Given the description of an element on the screen output the (x, y) to click on. 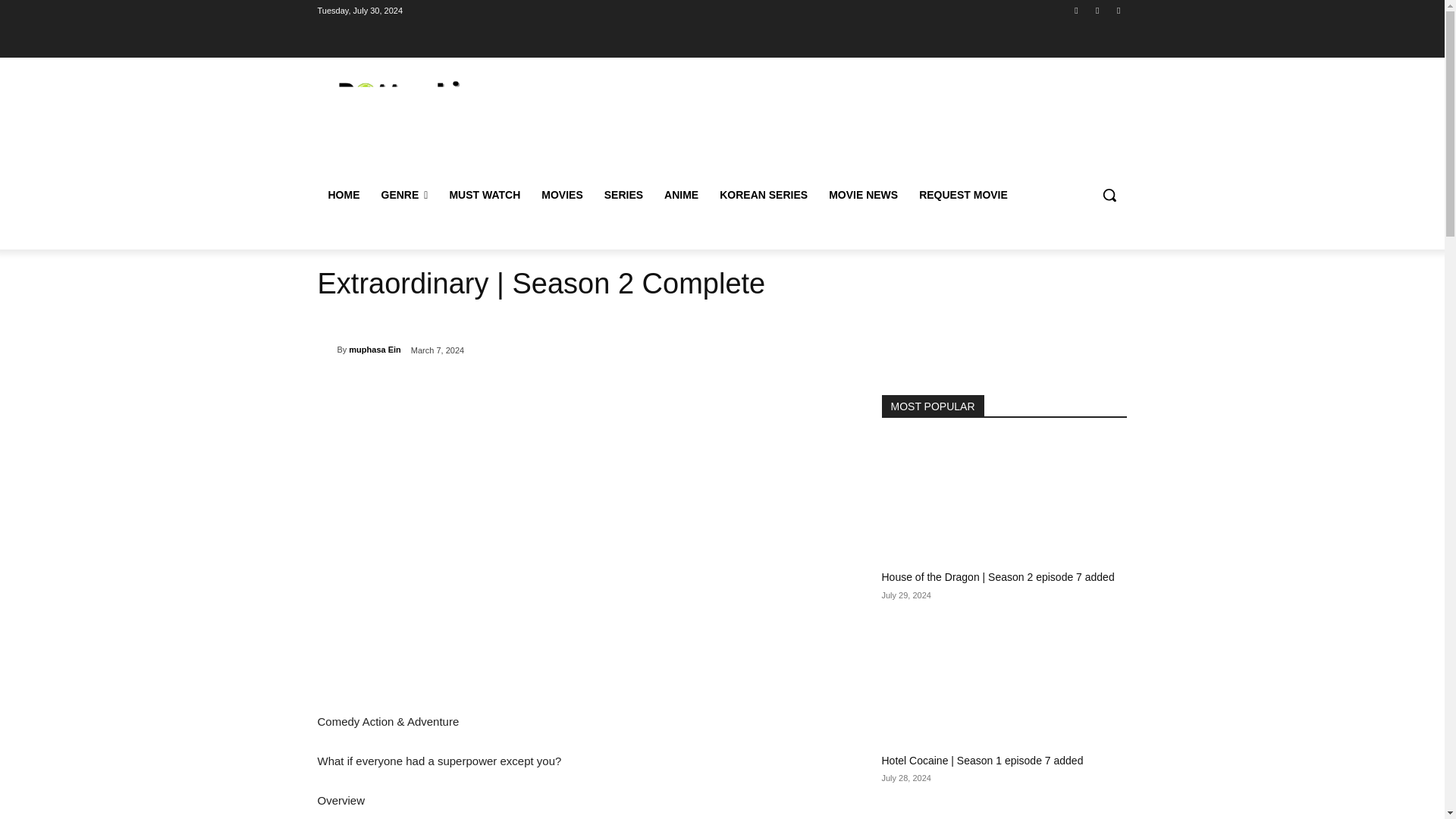
Youtube (1117, 9)
Twitter (1097, 9)
MUST WATCH (484, 194)
GENRE (403, 194)
muphasa Ein (326, 349)
HOME (343, 194)
Facebook (1075, 9)
